Given the description of an element on the screen output the (x, y) to click on. 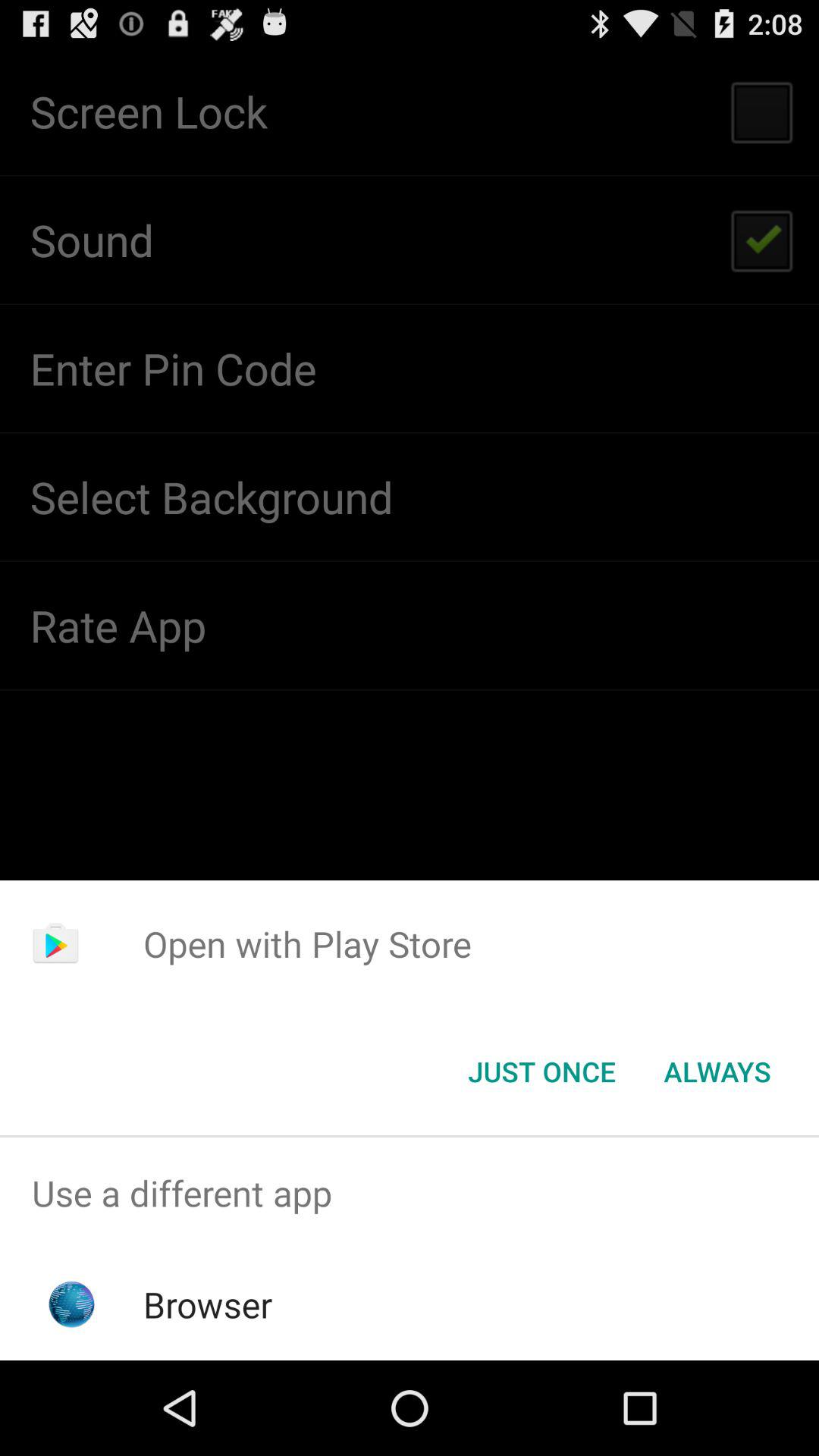
open the icon next to the just once button (717, 1071)
